Given the description of an element on the screen output the (x, y) to click on. 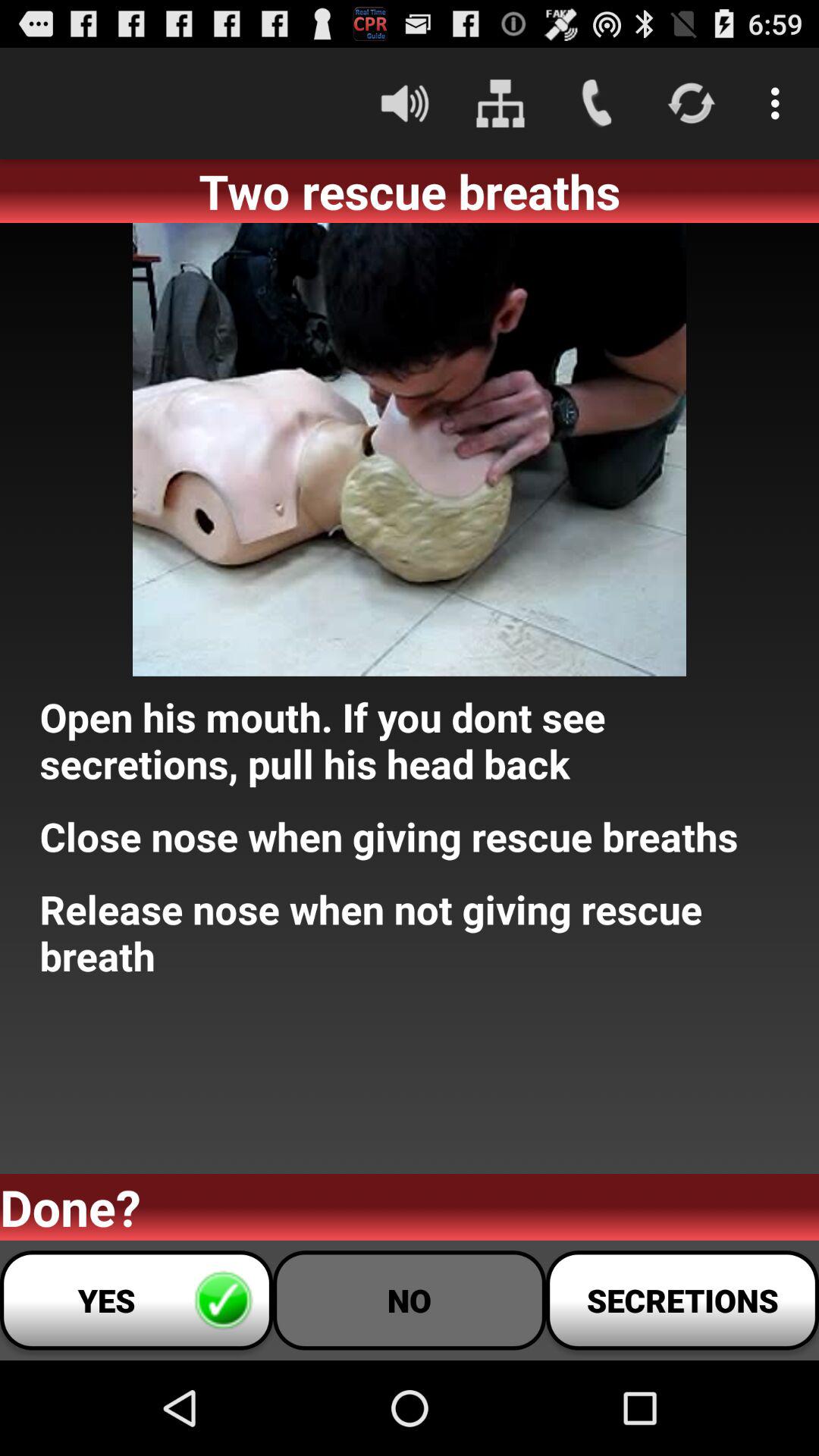
flip to no (409, 1300)
